Given the description of an element on the screen output the (x, y) to click on. 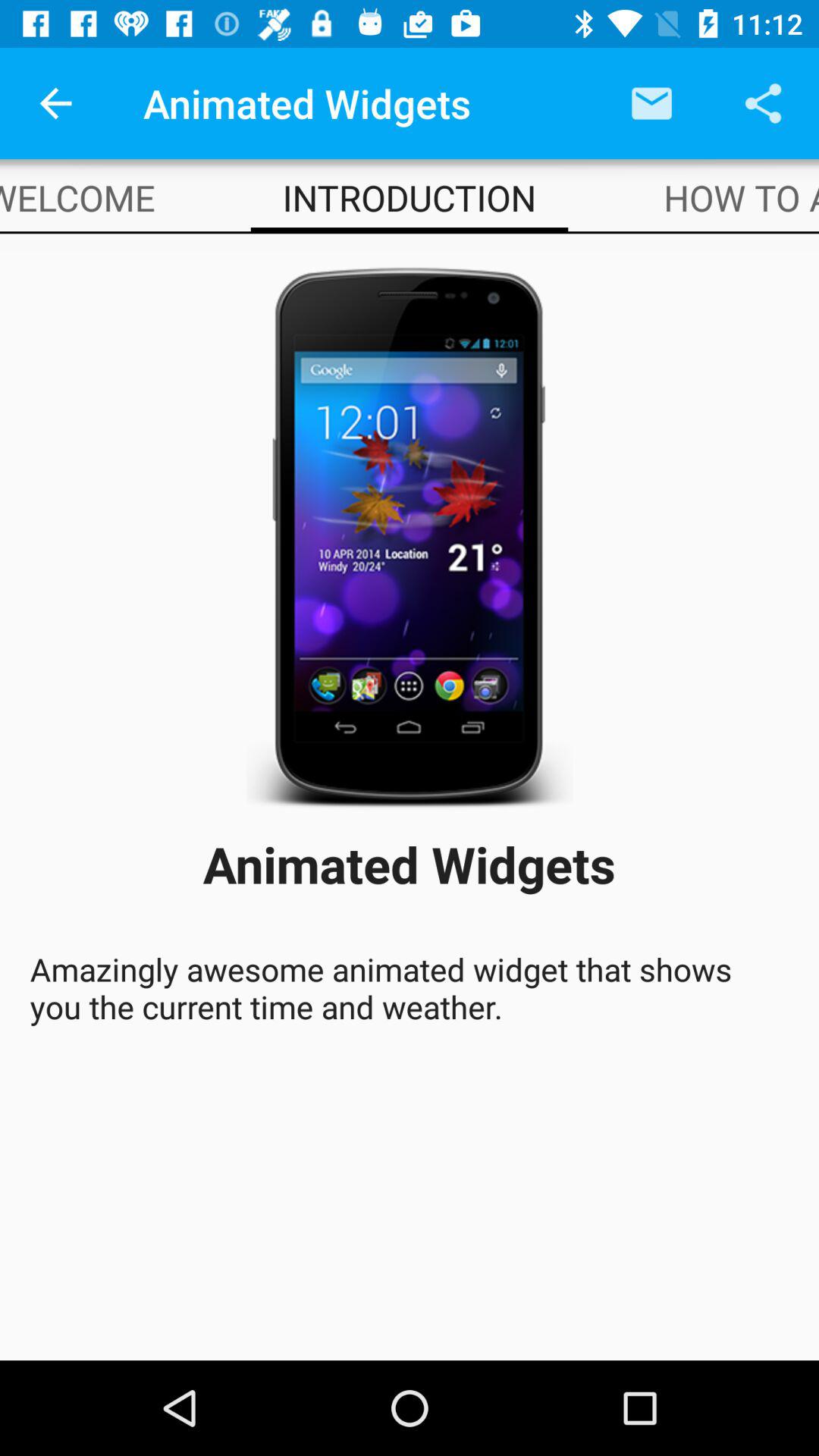
press the item to the left of animated widgets icon (55, 103)
